Given the description of an element on the screen output the (x, y) to click on. 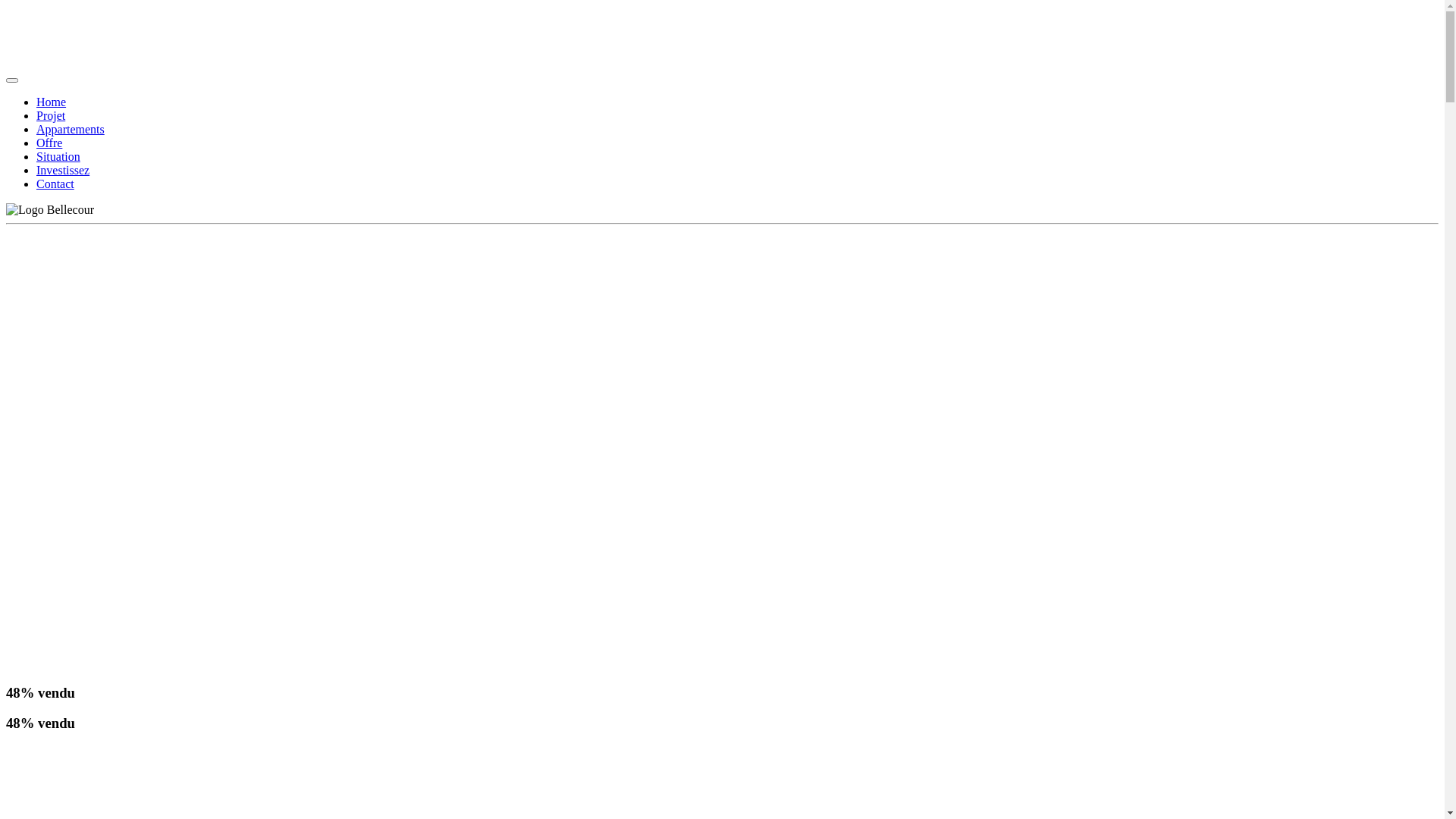
Situation Element type: text (58, 156)
Appartements Element type: text (70, 128)
Offre Element type: text (49, 142)
Contact Element type: text (55, 183)
Investissez Element type: text (62, 169)
Projet Element type: text (50, 115)
Home Element type: text (50, 101)
